Given the description of an element on the screen output the (x, y) to click on. 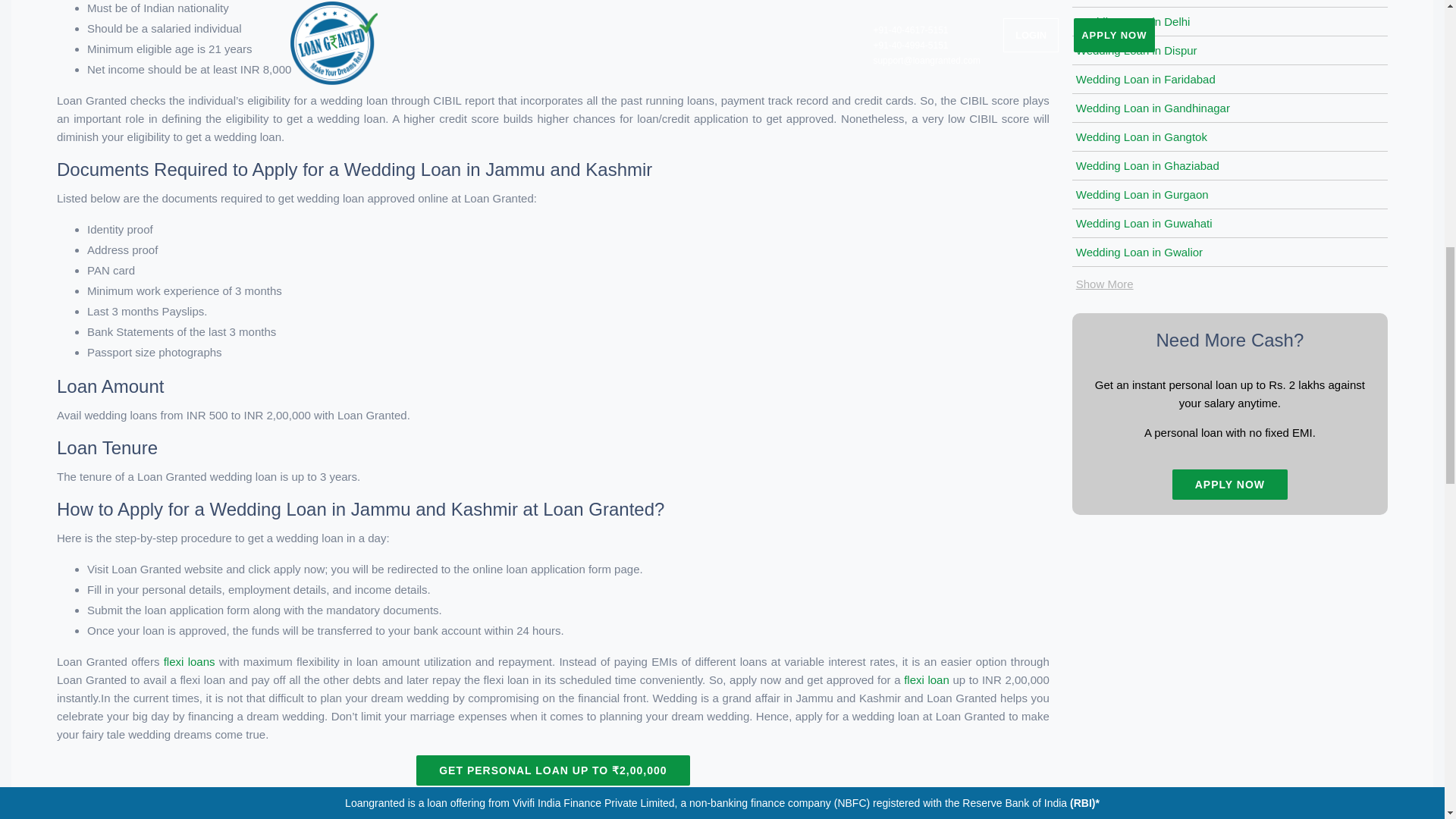
flexi loans (191, 661)
Wedding Loan in Ghaziabad (1147, 164)
Wedding Loan in Delhi (1133, 21)
Wedding Loan in Gangtok (1141, 136)
Wedding Loan in Gandhinagar (1152, 107)
flexi loan (928, 679)
Wedding Loan in Faridabad (1145, 78)
Wedding Loan in Dispur (1135, 50)
